Given the description of an element on the screen output the (x, y) to click on. 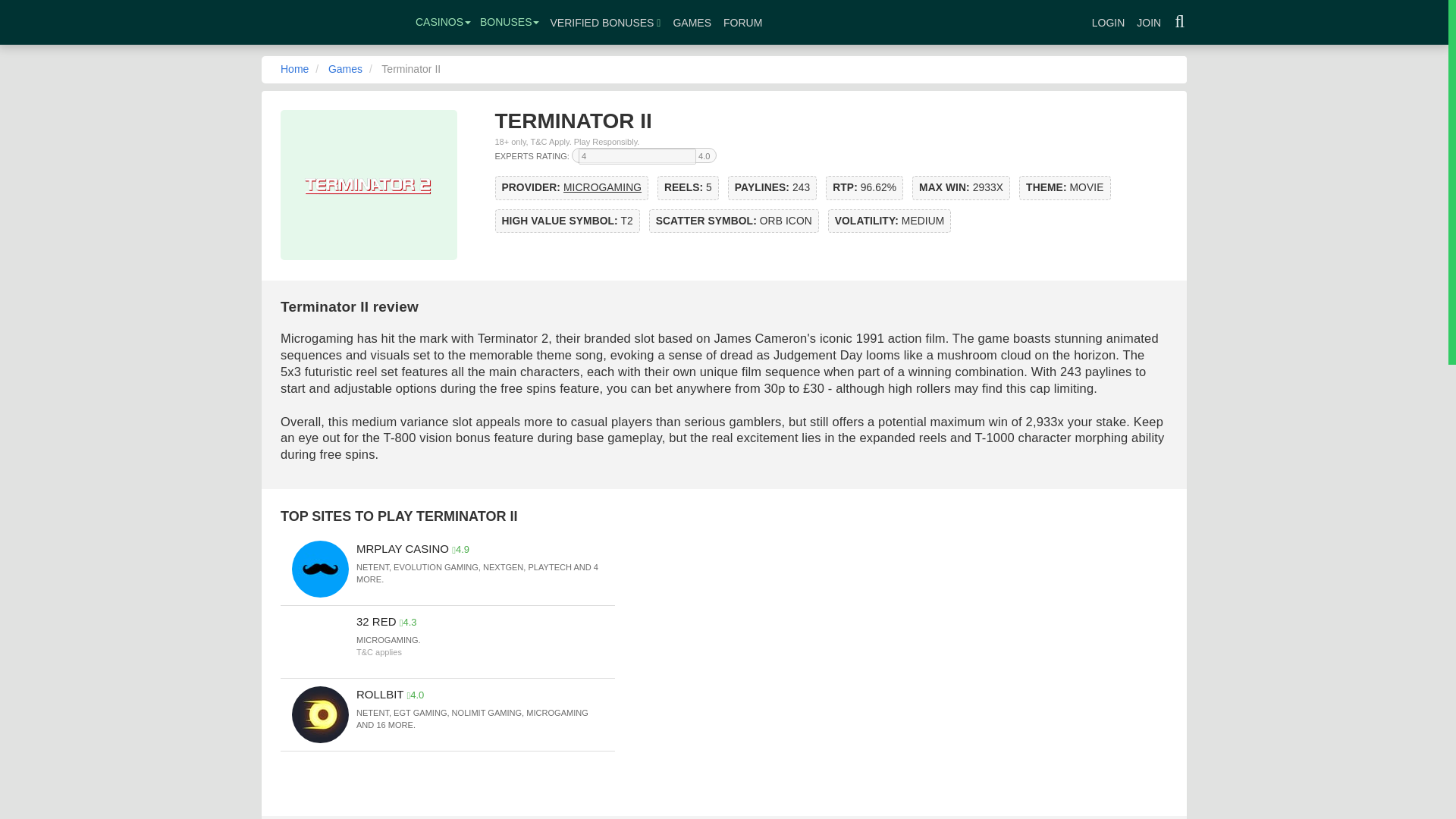
4 (636, 156)
MRPLAY CASINO 4.9 (412, 548)
LOGIN (1108, 22)
VERIFIED BONUSES (604, 22)
FORUM (742, 22)
Games (345, 69)
GAMES (691, 22)
CASINOS (443, 22)
Home (294, 69)
32 RED 4.3 (386, 621)
Bonus Casino (329, 23)
BONUSES (509, 22)
ROLLBIT 4.0 (389, 694)
MICROGAMING (602, 187)
